Given the description of an element on the screen output the (x, y) to click on. 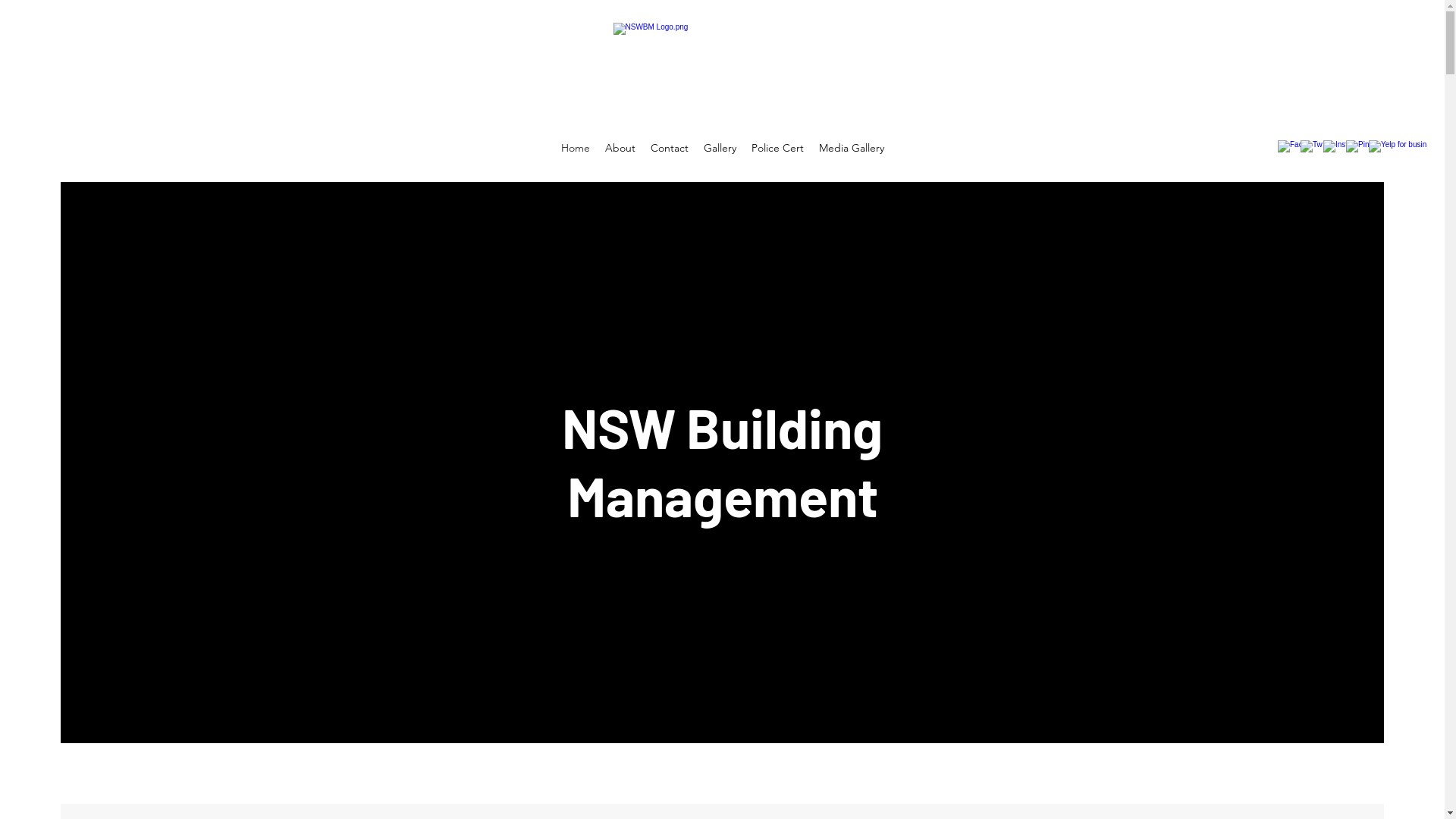
Gallery Element type: text (719, 147)
Media Gallery Element type: text (851, 147)
Home Element type: text (575, 147)
Contact Element type: text (669, 147)
Police Cert Element type: text (776, 147)
About Element type: text (620, 147)
